Given the description of an element on the screen output the (x, y) to click on. 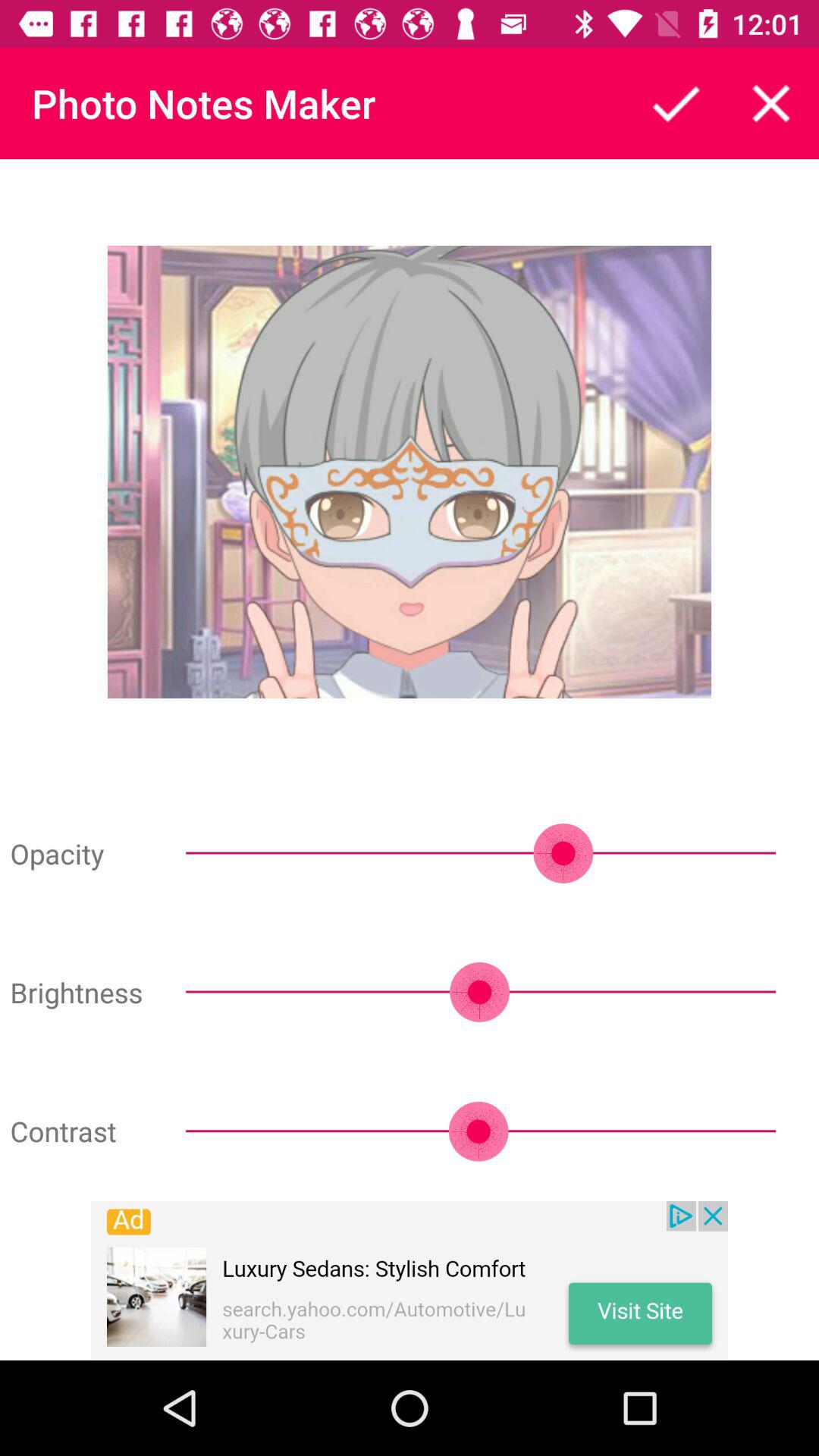
select all options (675, 103)
